Given the description of an element on the screen output the (x, y) to click on. 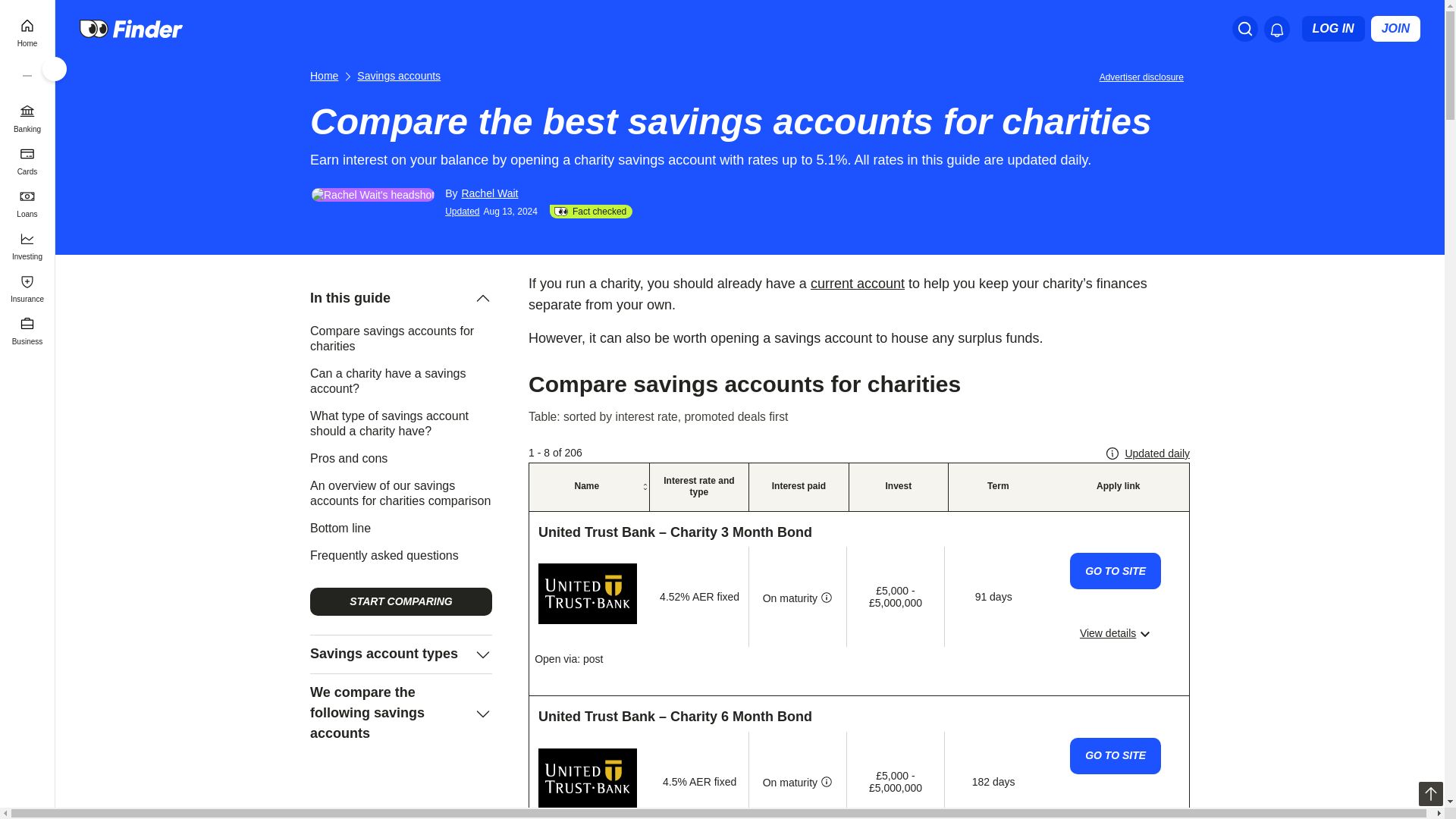
Important information about this website (1144, 76)
Interest payment info (826, 782)
Interest payment info (826, 598)
